Given the description of an element on the screen output the (x, y) to click on. 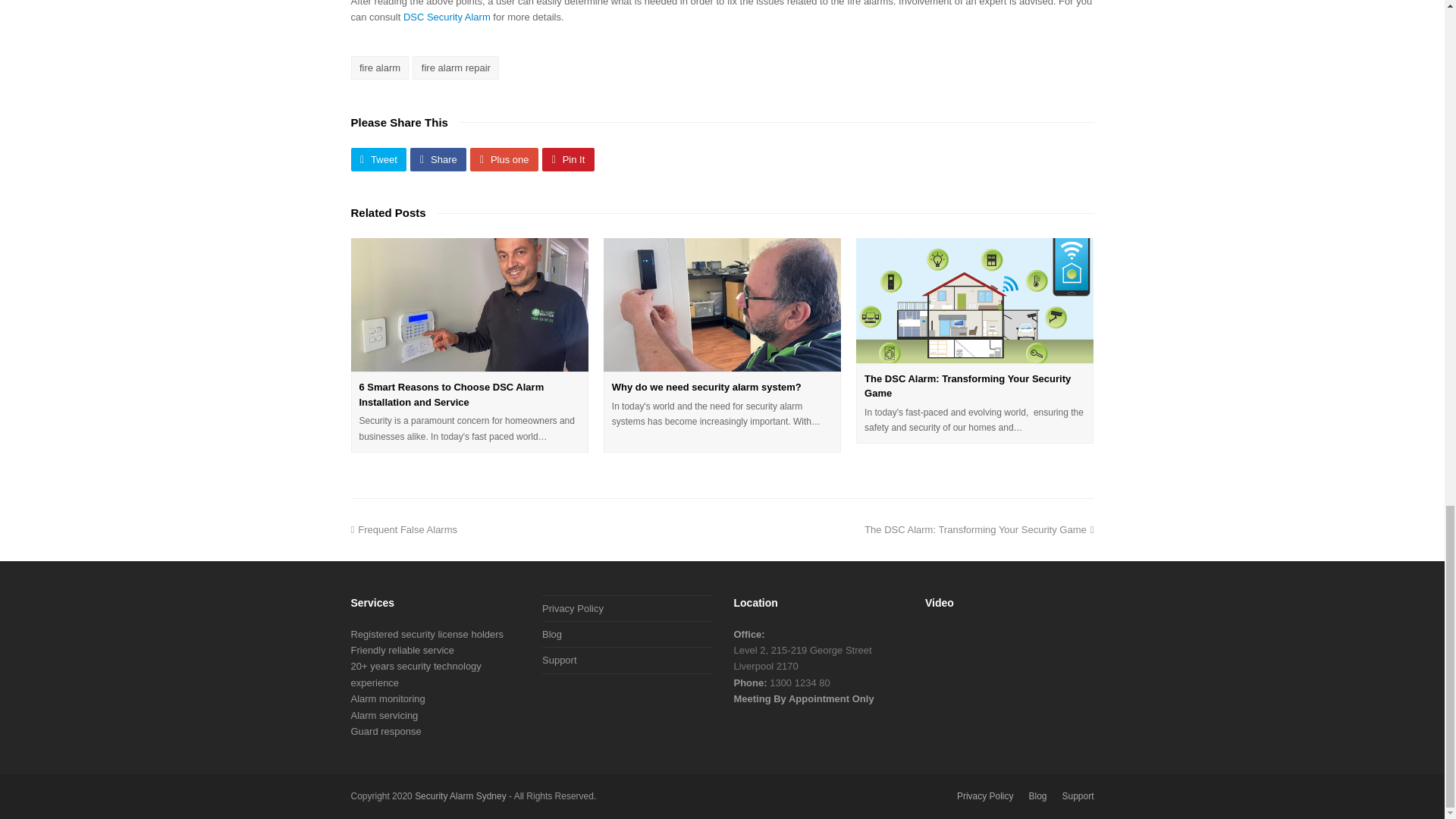
fire alarm repair (455, 67)
Why do we need security alarm system? (706, 387)
DSC Security Alarm (446, 16)
Share (437, 159)
Tweet (378, 159)
6 Smart Reasons to Choose DSC Alarm Installation and Service (451, 394)
fire alarm (379, 67)
The DSC Alarm: Transforming Your Security Game (974, 300)
Why do we need security alarm system? (722, 304)
Share on Pinterest (567, 159)
